Given the description of an element on the screen output the (x, y) to click on. 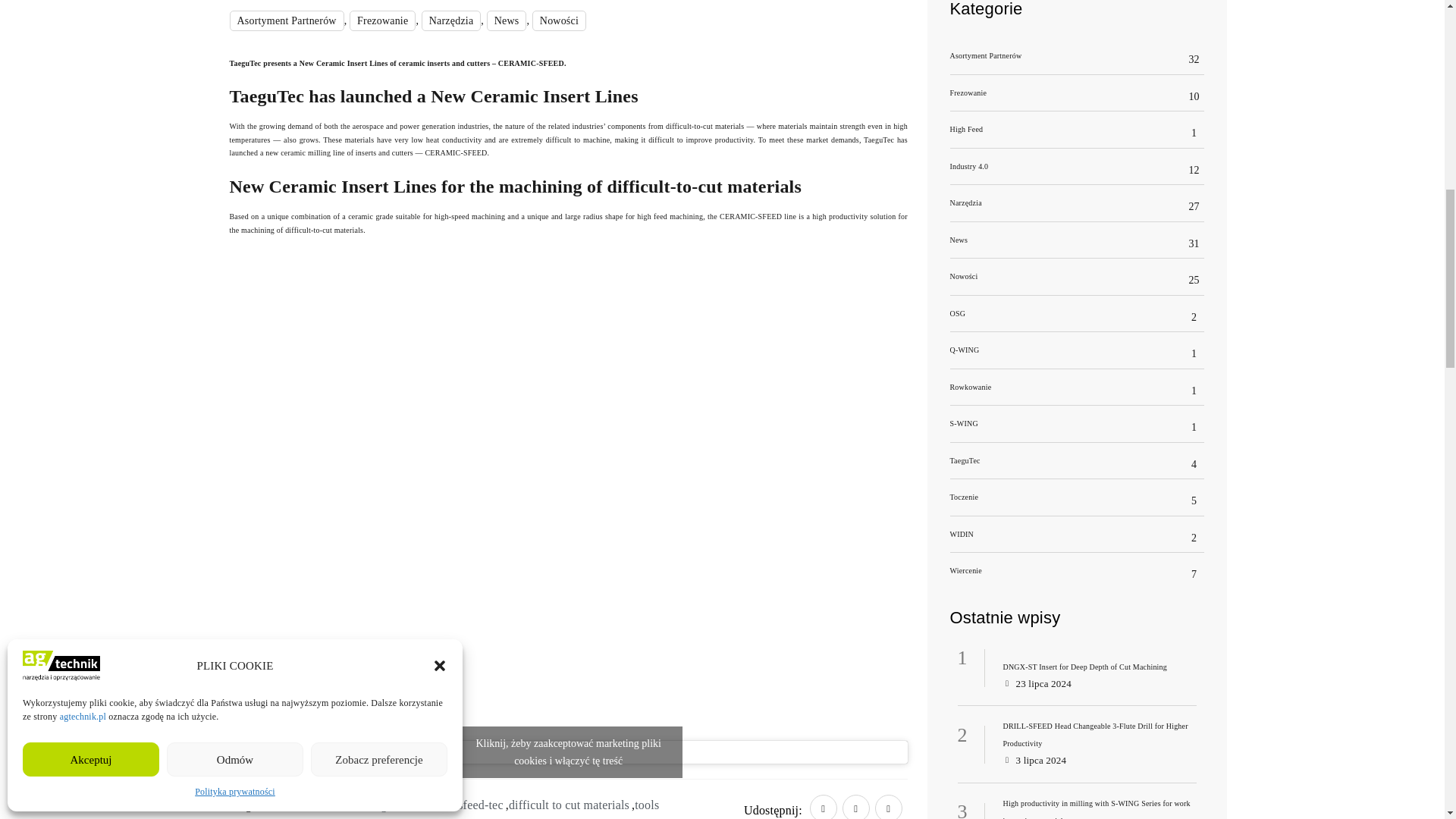
TaeguTec (266, 96)
Milling (318, 152)
